Given the description of an element on the screen output the (x, y) to click on. 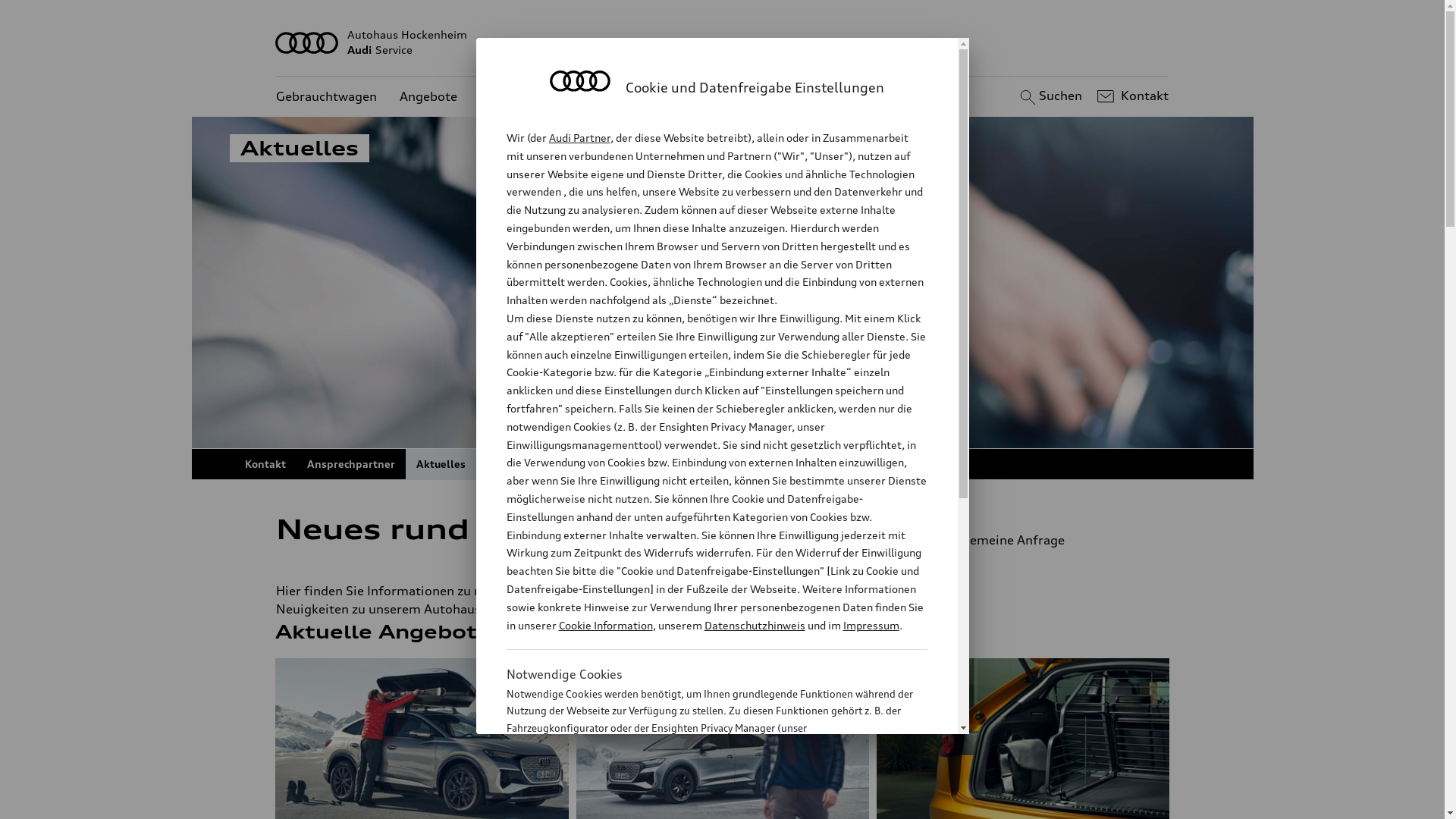
Kontakt Element type: text (264, 463)
Online Shop Element type: text (625, 463)
Autohaus Hockenheim
AudiService Element type: text (722, 42)
Angebote Element type: text (428, 96)
Impressum Element type: text (871, 624)
Suchen Element type: text (1049, 96)
Cookie Information Element type: text (700, 802)
Gebrauchtwagen Element type: text (326, 96)
Audi Partner Element type: text (579, 137)
Veranstaltungen Element type: text (529, 463)
Ansprechpartner Element type: text (349, 463)
Kundenservice Element type: text (523, 96)
Kontakt Element type: text (1130, 96)
Datenschutzhinweis Element type: text (753, 624)
Aktuelles Element type: text (439, 463)
Cookie Information Element type: text (605, 624)
Allgemeine Anfrage Element type: text (1044, 539)
